Given the description of an element on the screen output the (x, y) to click on. 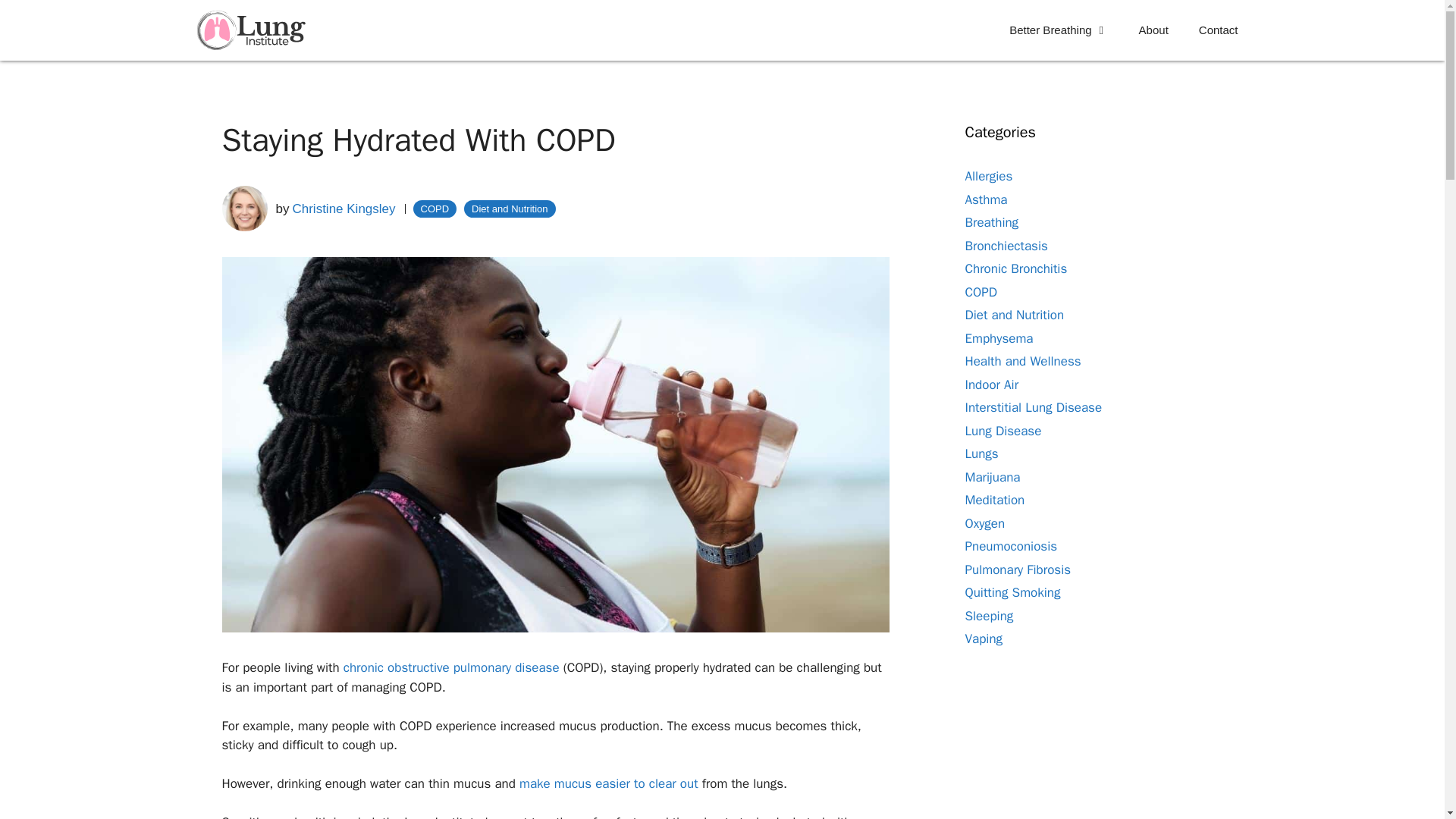
Lung Institute (251, 30)
Contact (1218, 30)
Lung Institute (255, 30)
Christine Kingsley (343, 208)
Diet and Nutrition (509, 208)
Better Breathing (1058, 30)
make mucus easier to clear out (608, 783)
COPD (435, 208)
chronic obstructive pulmonary disease (451, 667)
About (1153, 30)
